Given the description of an element on the screen output the (x, y) to click on. 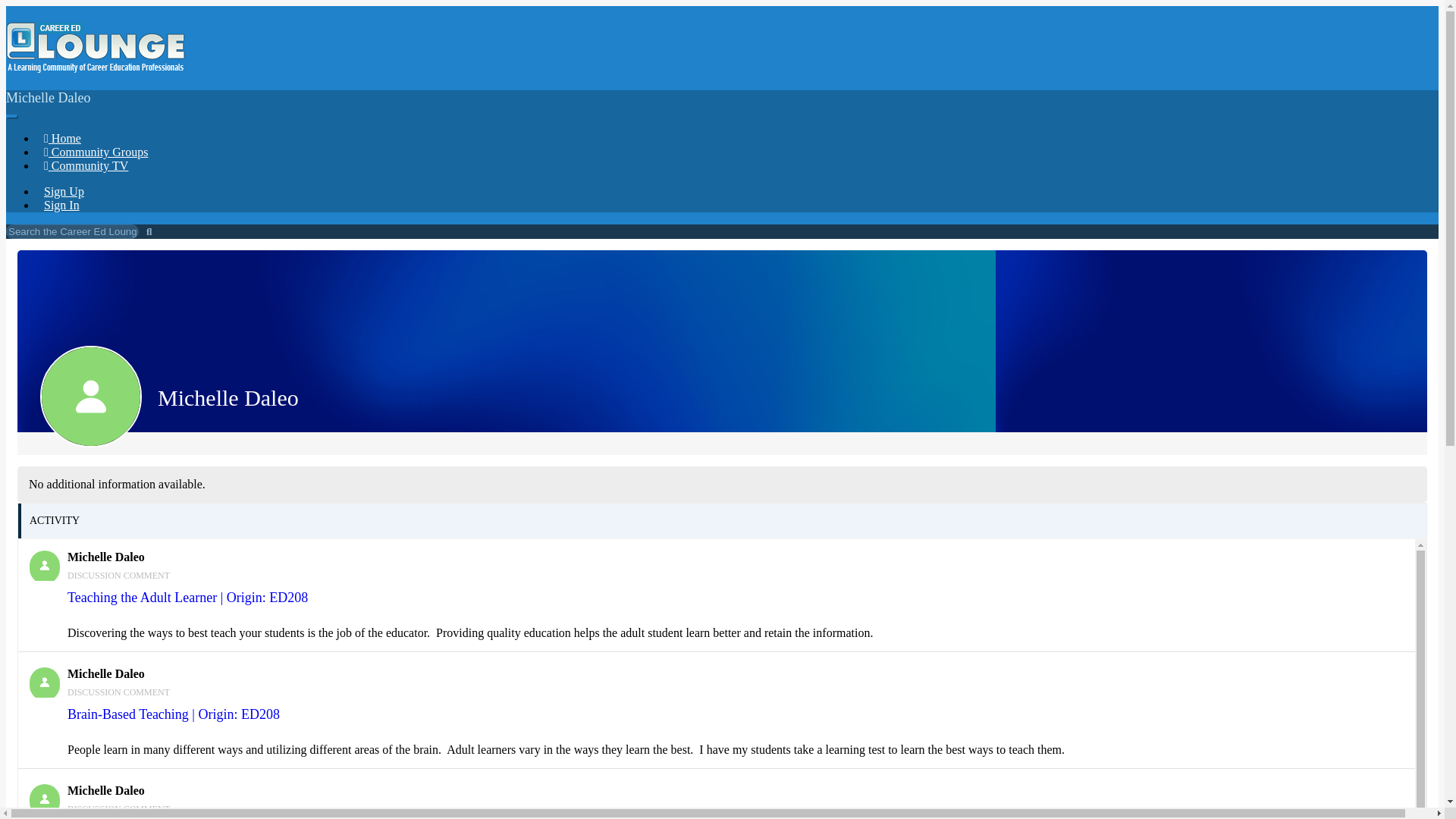
Michelle Daleo (44, 798)
Michelle Daleo (90, 396)
Michelle Daleo (105, 789)
Michelle Daleo (44, 682)
Community Groups (95, 151)
Michelle Daleo (44, 565)
Sign In (61, 205)
Michelle Daleo (105, 673)
Community TV (85, 164)
Sign Up (63, 191)
Michelle Daleo (105, 556)
Home (62, 137)
